Given the description of an element on the screen output the (x, y) to click on. 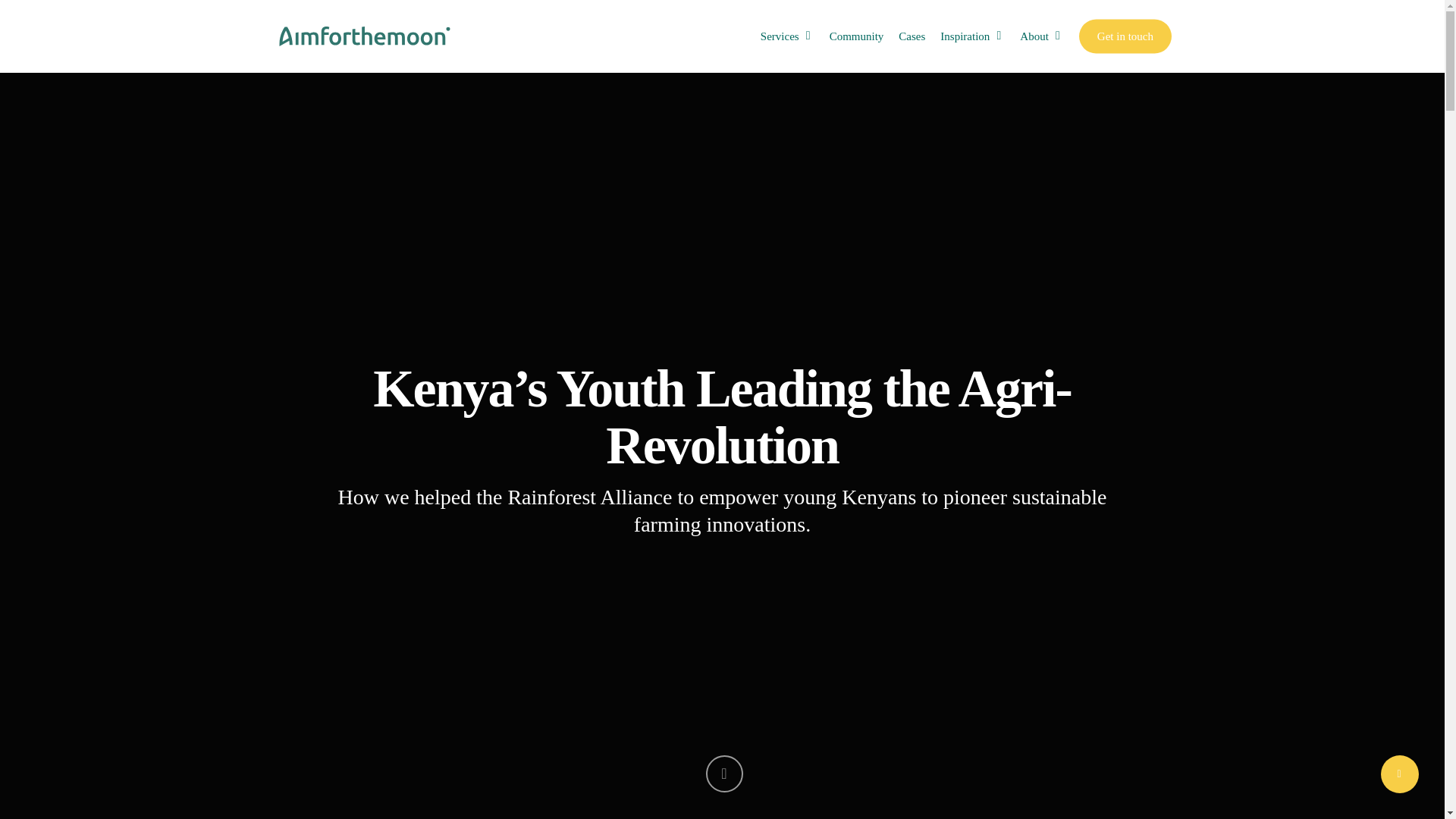
Community (856, 36)
About (1042, 36)
Cases (911, 36)
Get in touch (1125, 36)
Services (786, 36)
Inspiration (972, 36)
